Given the description of an element on the screen output the (x, y) to click on. 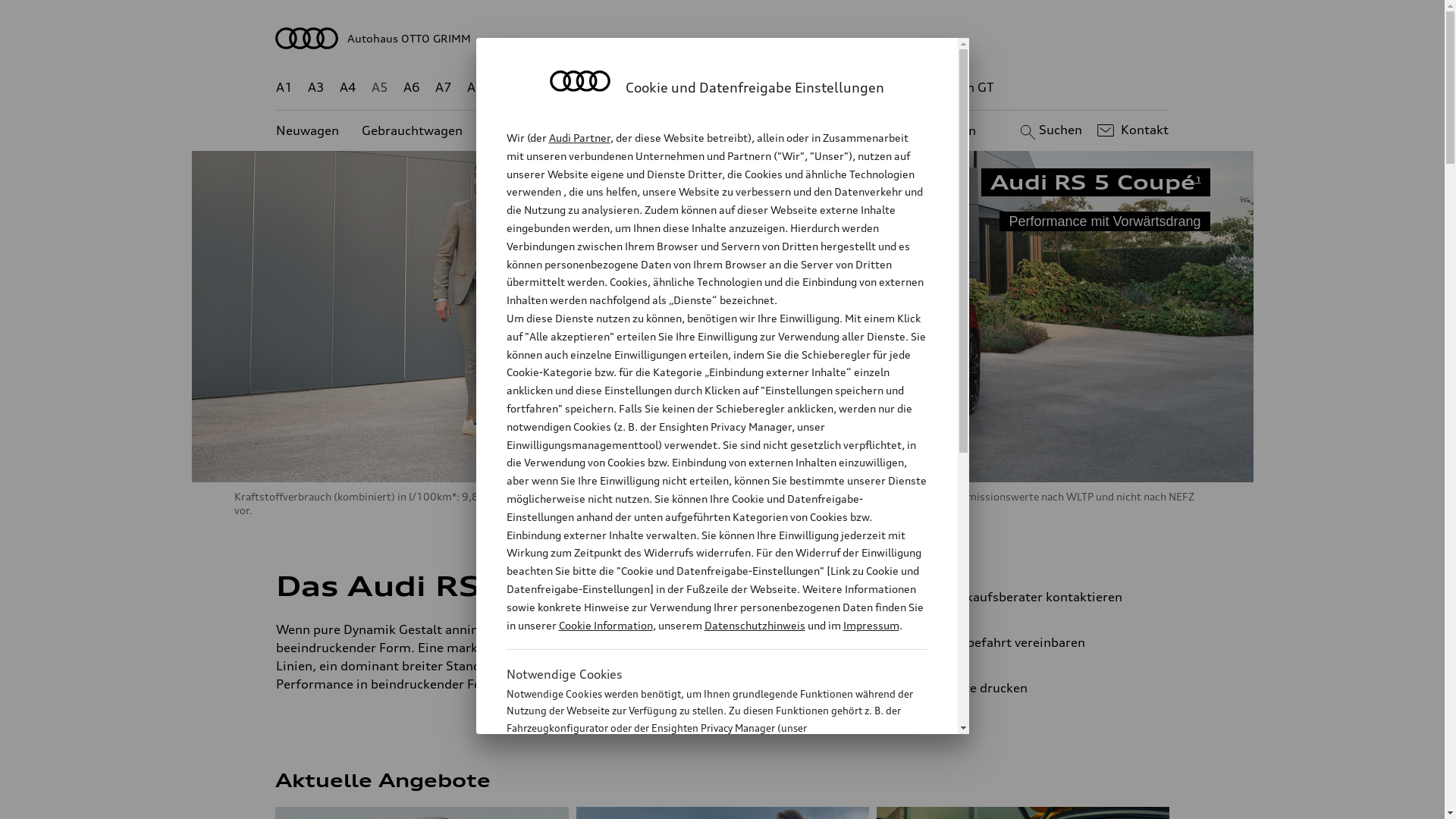
RS Element type: text (861, 87)
Impressum Element type: text (871, 624)
Autohaus OTTO GRIMM Element type: text (722, 38)
Q7 Element type: text (678, 87)
Kontakt Element type: text (1130, 130)
1 Element type: text (630, 582)
A8 Element type: text (475, 87)
Q3 Element type: text (540, 87)
Q8 Element type: text (710, 87)
Cookie Information Element type: text (700, 802)
Q8 e-tron Element type: text (763, 87)
Verkaufsberater kontaktieren Element type: text (1038, 596)
TT Element type: text (814, 87)
A3 Element type: text (315, 87)
Q2 Element type: text (507, 87)
A4 Element type: text (347, 87)
Neuwagen Element type: text (307, 130)
Suchen Element type: text (1049, 130)
g-tron Element type: text (903, 87)
A1 Element type: text (284, 87)
Audi Partner Element type: text (579, 137)
A7 Element type: text (443, 87)
Angebote Element type: text (636, 130)
Gebrauchtwagen Element type: text (411, 130)
1 Element type: text (632, 625)
Cookie Information Element type: text (605, 624)
1 Element type: text (1198, 178)
e-tron GT Element type: text (965, 87)
Seite drucken Element type: text (1044, 687)
A6 Element type: text (411, 87)
Datenschutzhinweis Element type: text (753, 624)
Probefahrt vereinbaren Element type: text (1038, 642)
Kundenservice Element type: text (730, 130)
Q5 Element type: text (645, 87)
A5 Element type: text (379, 87)
Q4 e-tron Element type: text (592, 87)
